Given the description of an element on the screen output the (x, y) to click on. 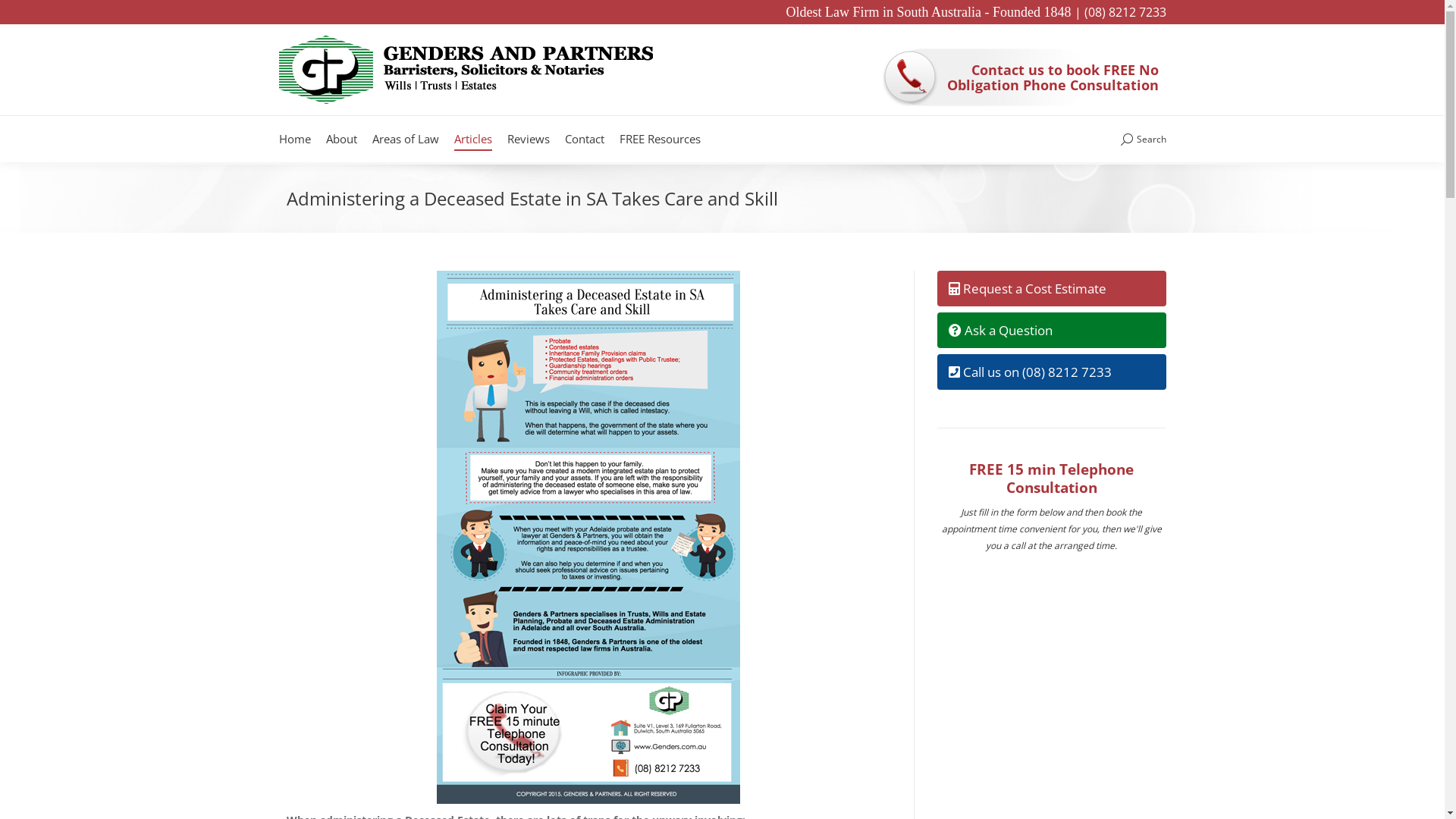
(08) 8212 7233 Element type: text (1125, 11)
Contact Element type: text (583, 138)
Articles Element type: text (472, 138)
Search Element type: text (1143, 139)
Areas of Law Element type: text (404, 138)
FREE Resources Element type: text (658, 138)
Reviews Element type: text (527, 138)
About Element type: text (341, 138)
Go! Element type: text (23, 16)
Request a Cost Estimate Element type: text (1051, 288)
Call us on (08) 8212 7233 Element type: text (1051, 371)
Home Element type: text (294, 138)
Ask a Question Element type: text (1051, 330)
